Given the description of an element on the screen output the (x, y) to click on. 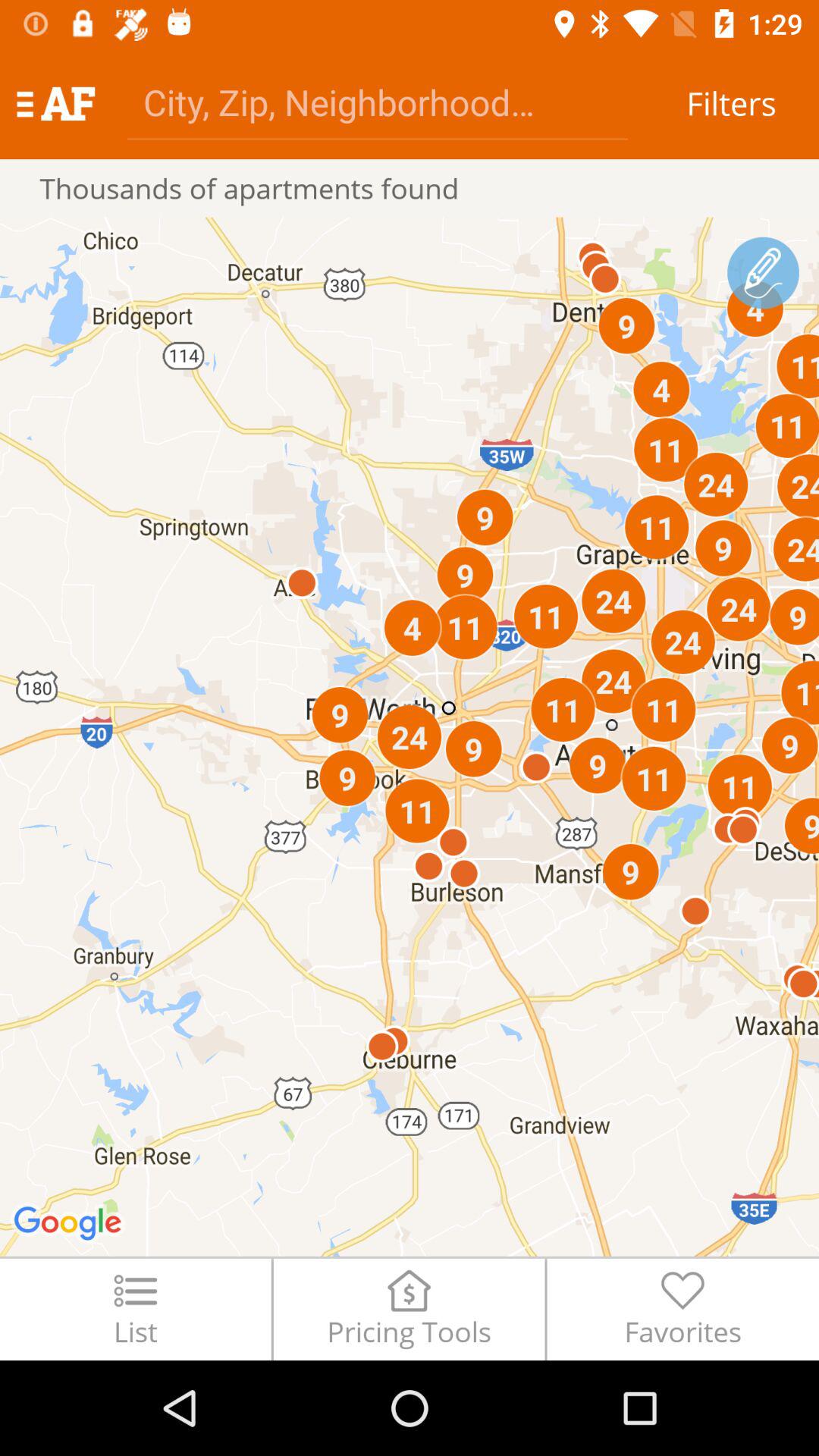
scroll until the filters item (731, 103)
